Given the description of an element on the screen output the (x, y) to click on. 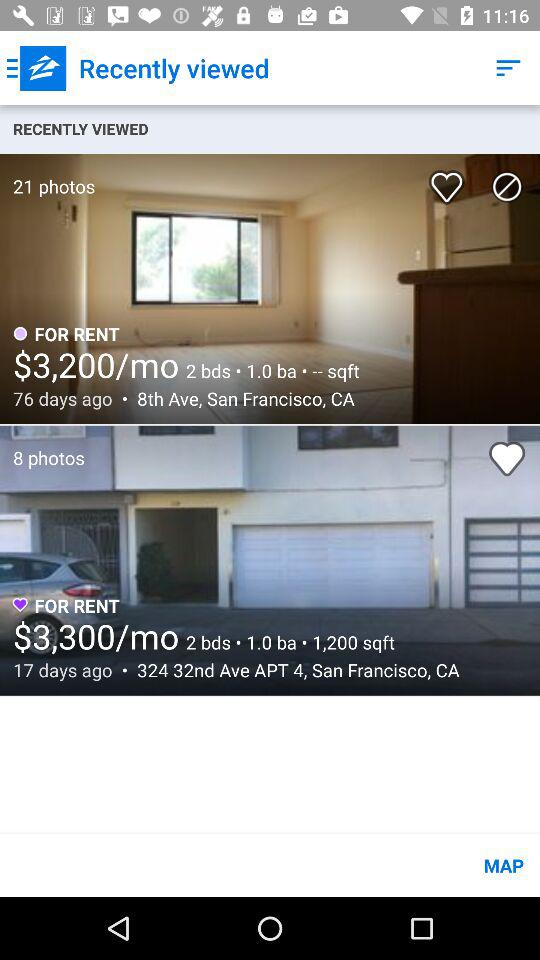
press icon below the recently viewed (507, 186)
